Given the description of an element on the screen output the (x, y) to click on. 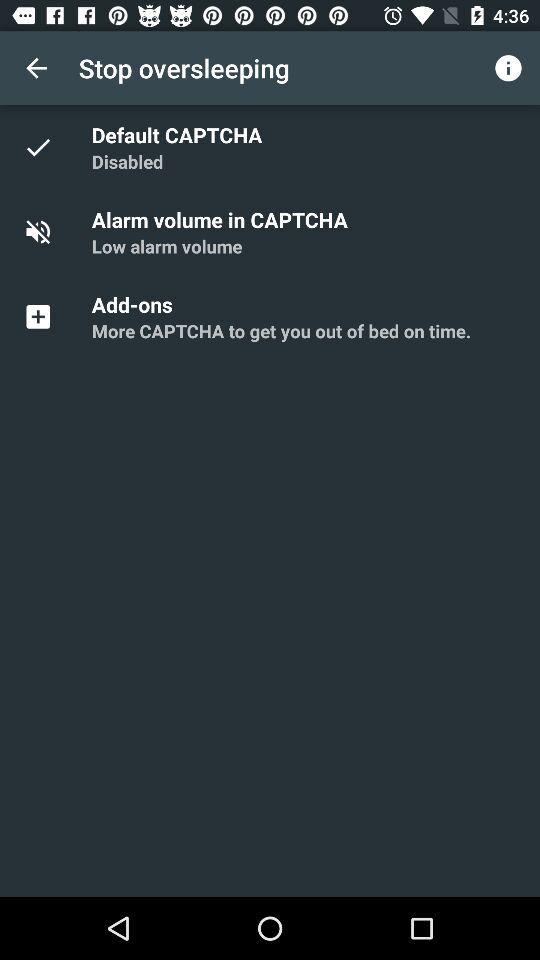
flip to the disabled item (127, 161)
